Given the description of an element on the screen output the (x, y) to click on. 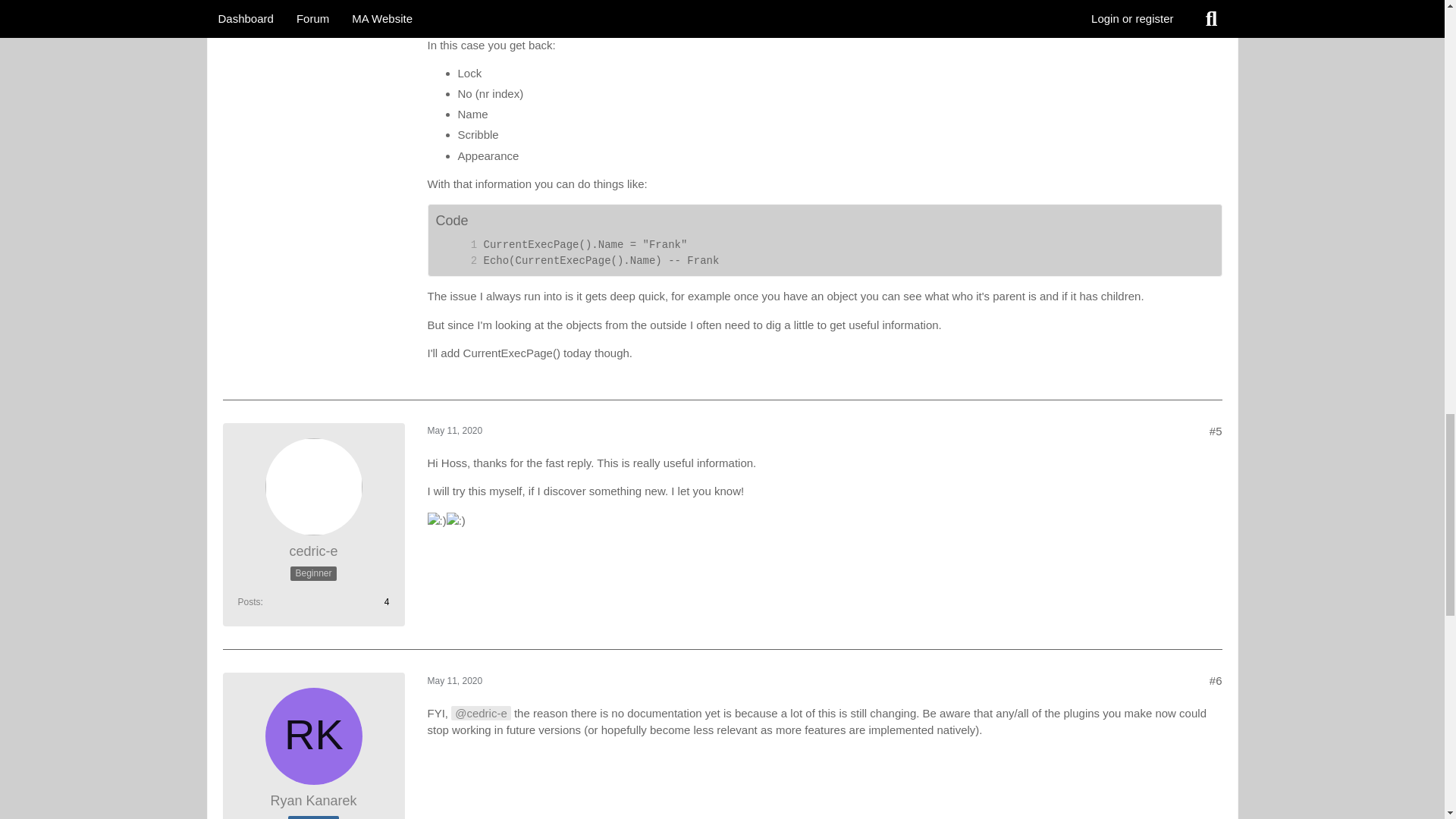
2 (458, 261)
smile (437, 520)
smile (455, 520)
1 (458, 245)
